Given the description of an element on the screen output the (x, y) to click on. 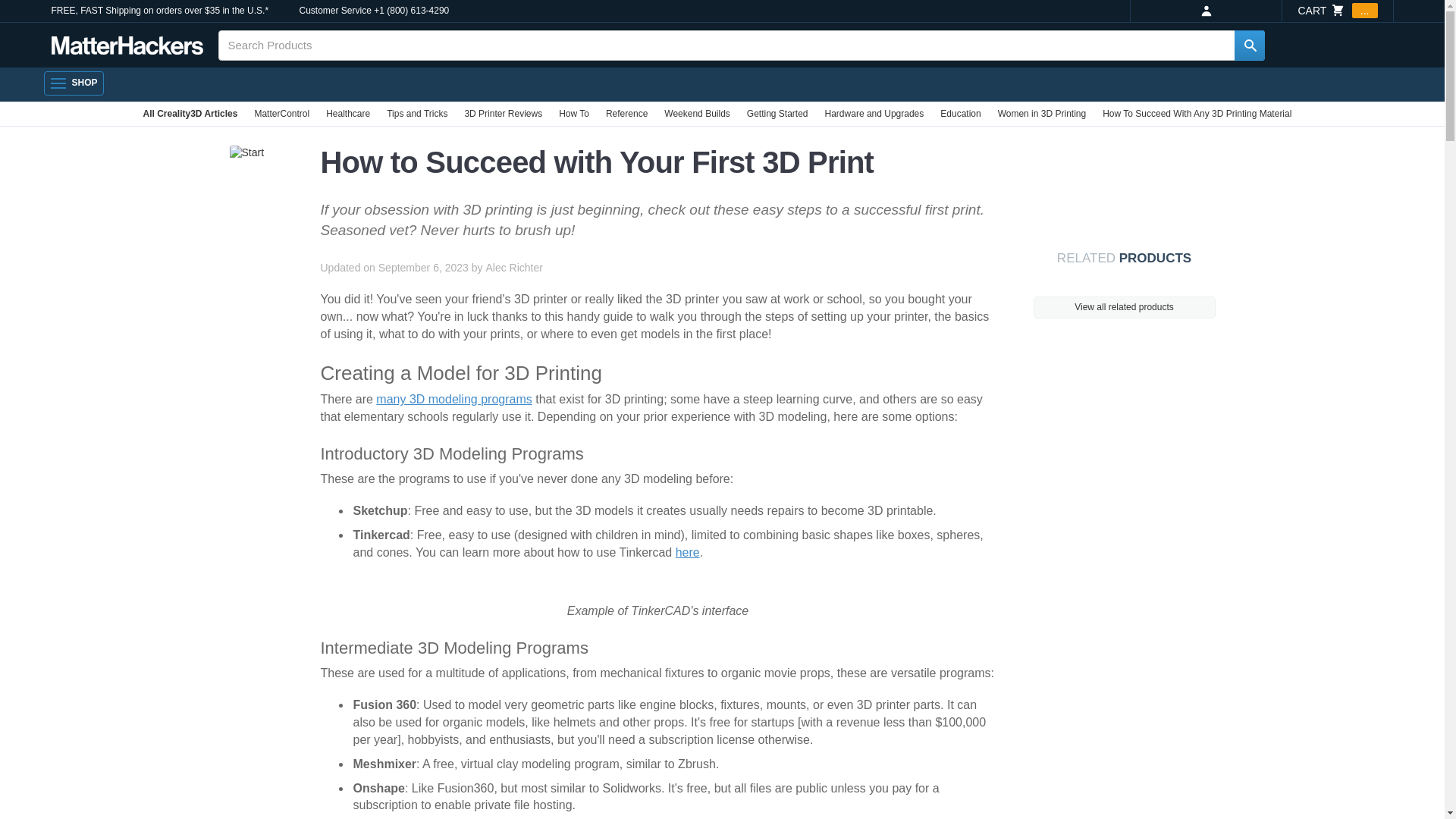
SHOP (73, 83)
Customer Service (334, 10)
CART ... (1337, 11)
MatterHackers (126, 45)
Start (245, 152)
